Given the description of an element on the screen output the (x, y) to click on. 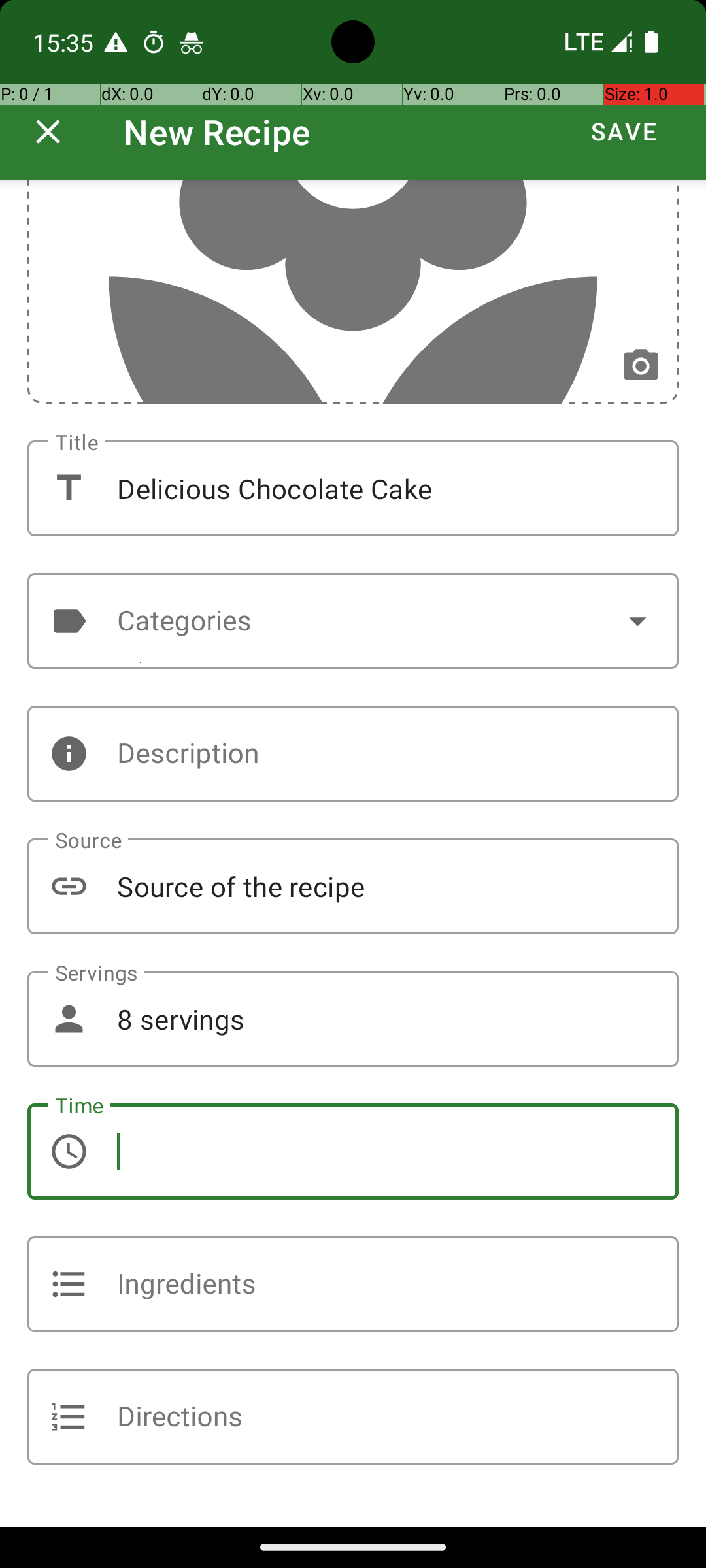
Delicious Chocolate Cake Element type: android.widget.EditText (352, 488)
Source of the recipe Element type: android.widget.EditText (352, 886)
